Given the description of an element on the screen output the (x, y) to click on. 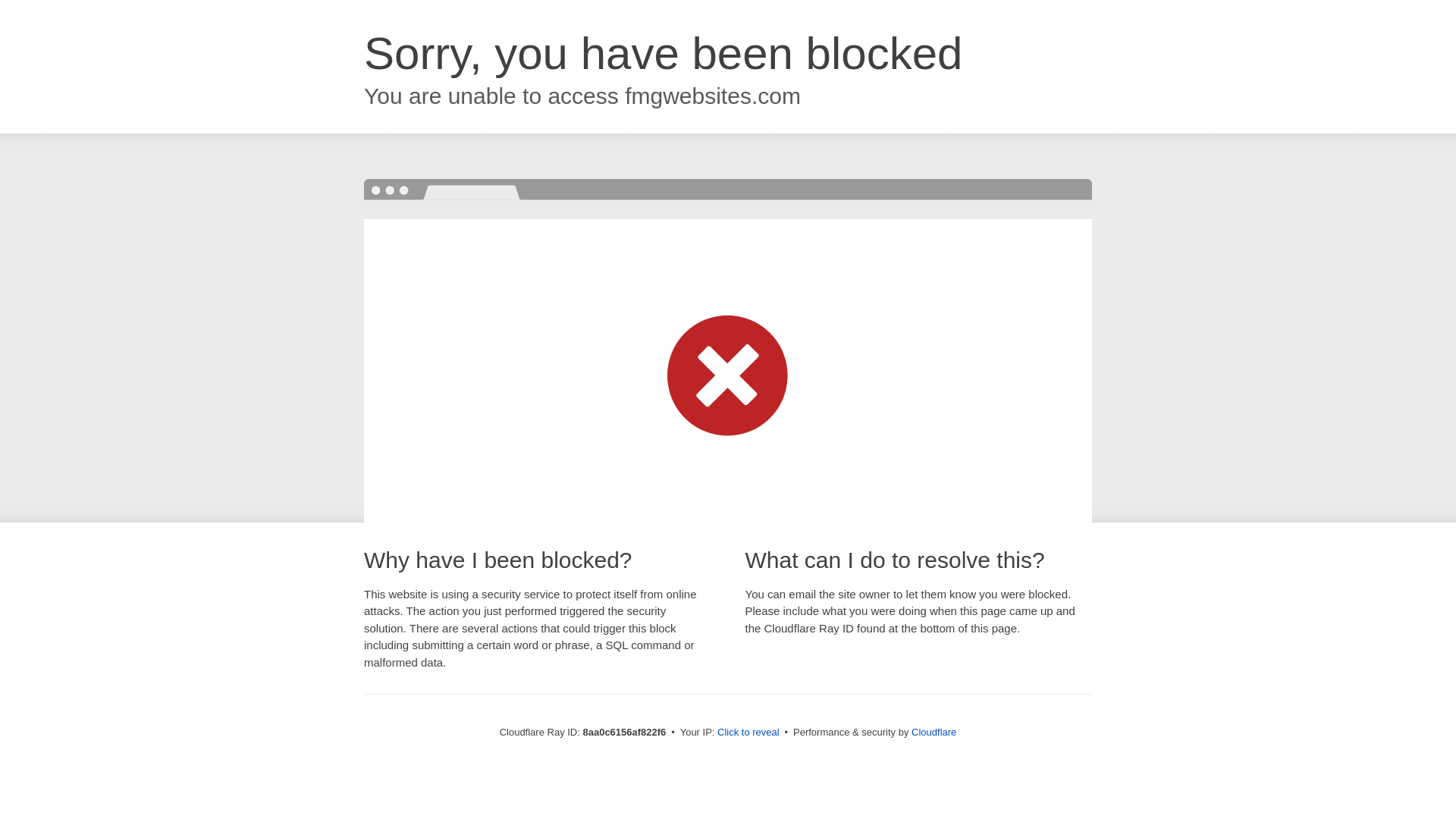
Click to reveal (747, 732)
Cloudflare (933, 731)
